Given the description of an element on the screen output the (x, y) to click on. 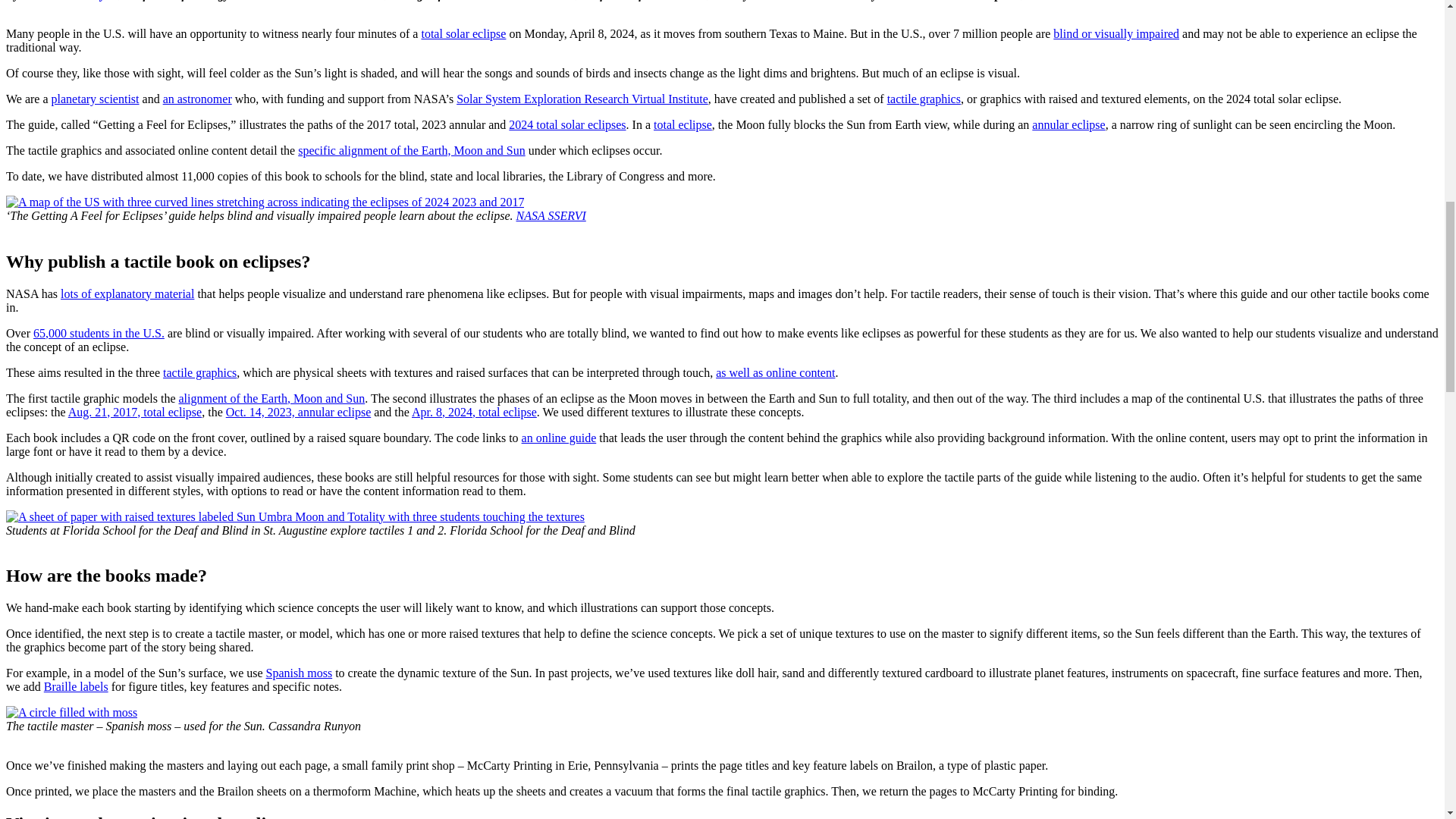
Solar System Exploration Research Virtual Institute (582, 98)
David Hurd (545, 0)
planetary scientist (94, 98)
2024 total solar eclipses (567, 124)
an astronomer (197, 98)
tactile graphics (923, 98)
total solar eclipse (462, 33)
blind or visually impaired (1115, 33)
